Given the description of an element on the screen output the (x, y) to click on. 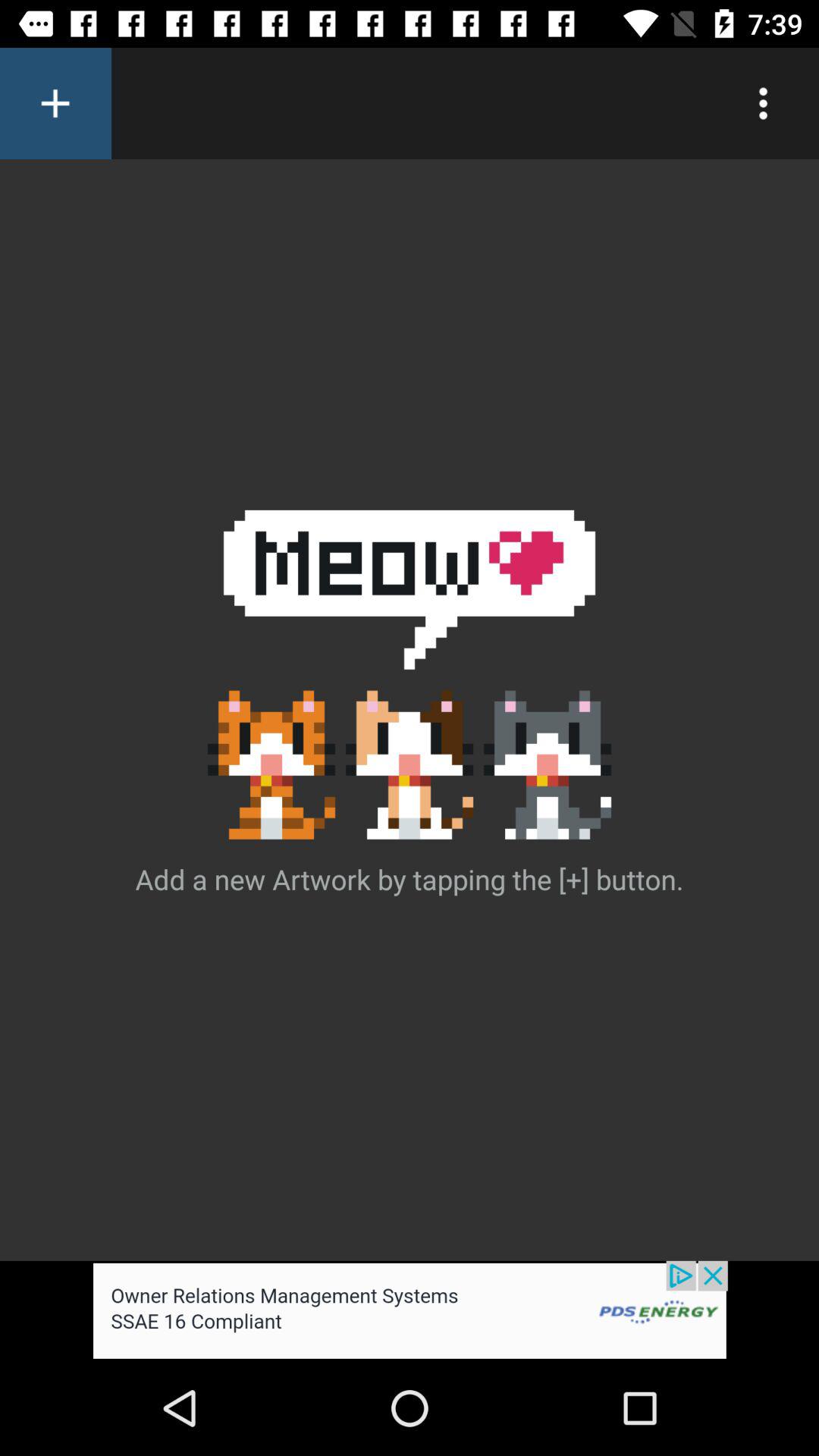
menu options (763, 103)
